Given the description of an element on the screen output the (x, y) to click on. 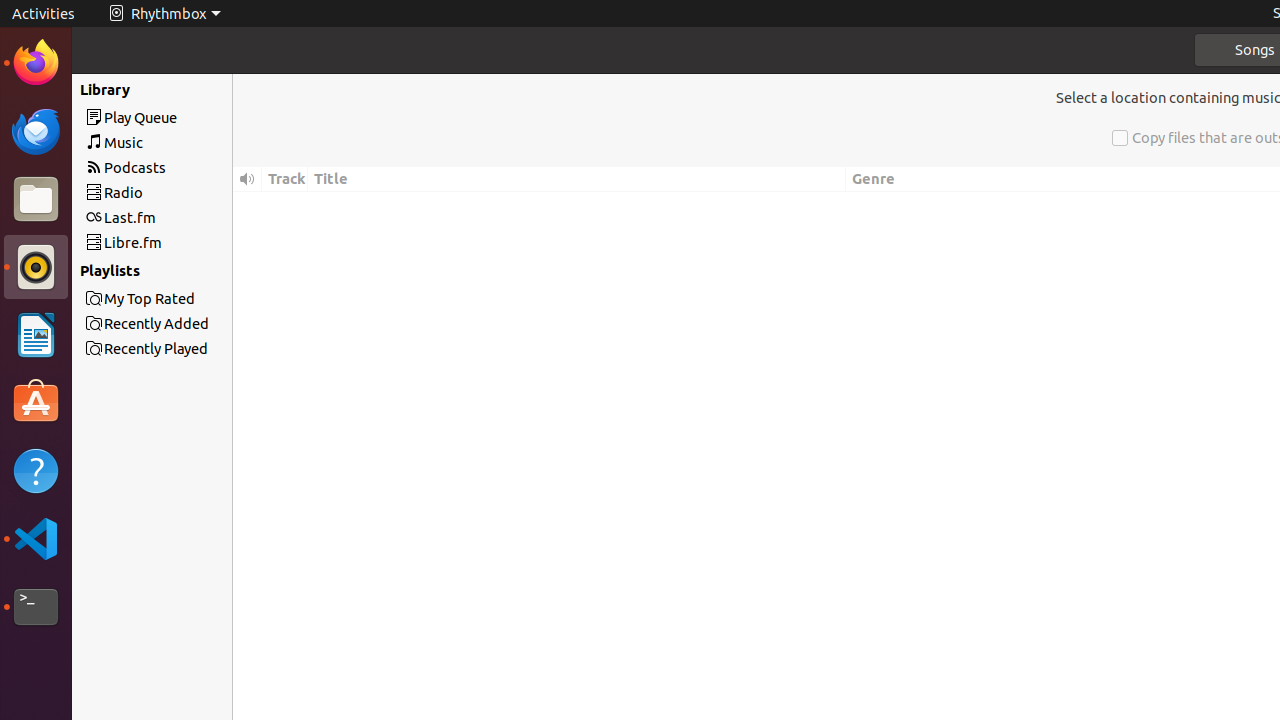
Library Element type: table-cell (177, 89)
Terminal Element type: push-button (36, 607)
Music Element type: table-cell (188, 142)
Activities Element type: label (43, 13)
